Given the description of an element on the screen output the (x, y) to click on. 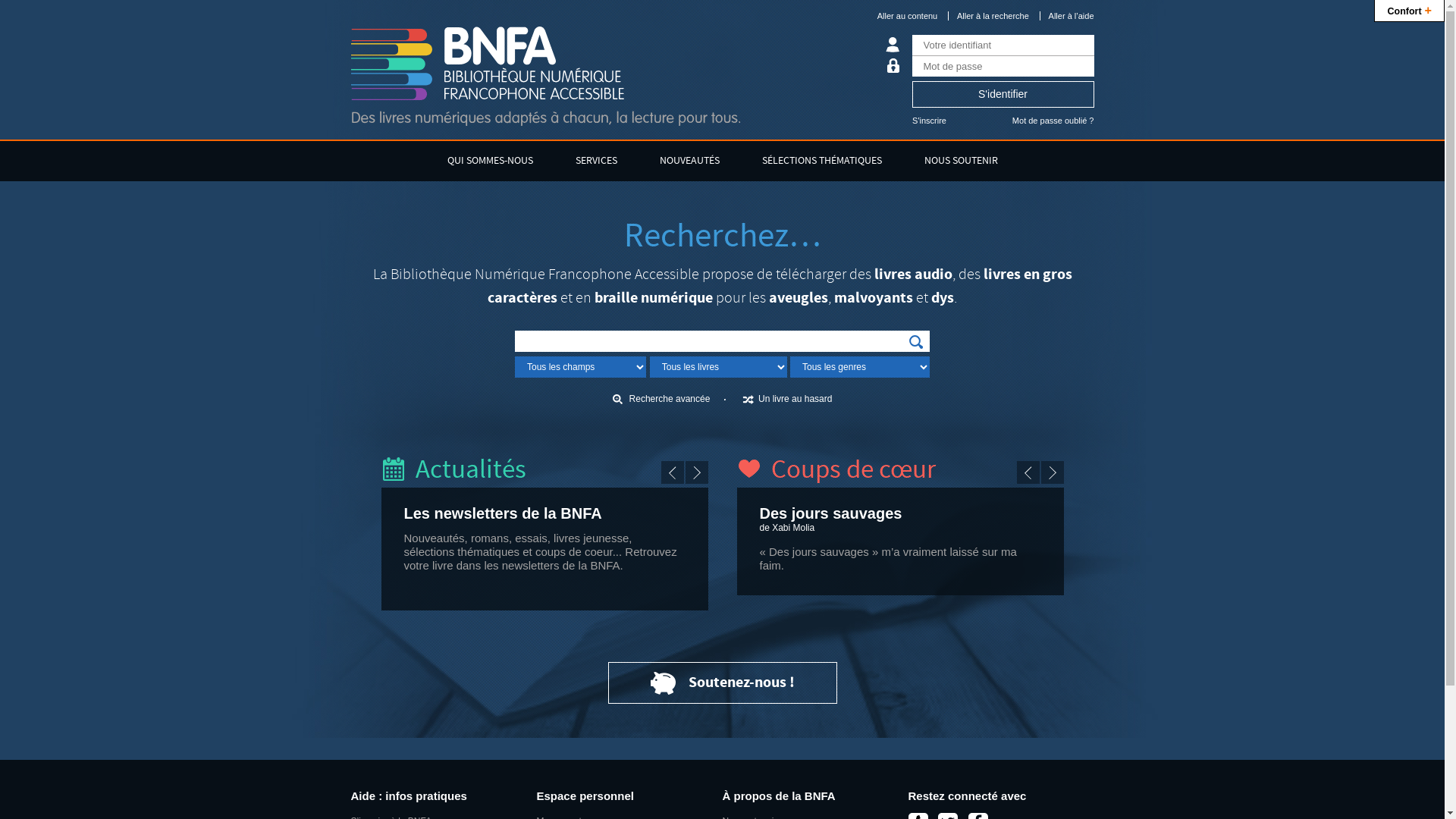
Aller au contenu Element type: text (907, 15)
Soutenez-nous ! Element type: text (721, 682)
S'identifier Element type: text (1002, 93)
S'inscrire Element type: text (929, 120)
Un livre au hasard Element type: text (786, 398)
Des jours sauvages
de Xabi Molia Element type: text (900, 519)
SERVICES Element type: text (595, 160)
Confort+ Element type: text (1408, 10)
QUI SOMMES-NOUS Element type: text (490, 160)
Les newsletters de la BNFA Element type: text (502, 513)
NOUS SOUTENIR Element type: text (960, 160)
